Given the description of an element on the screen output the (x, y) to click on. 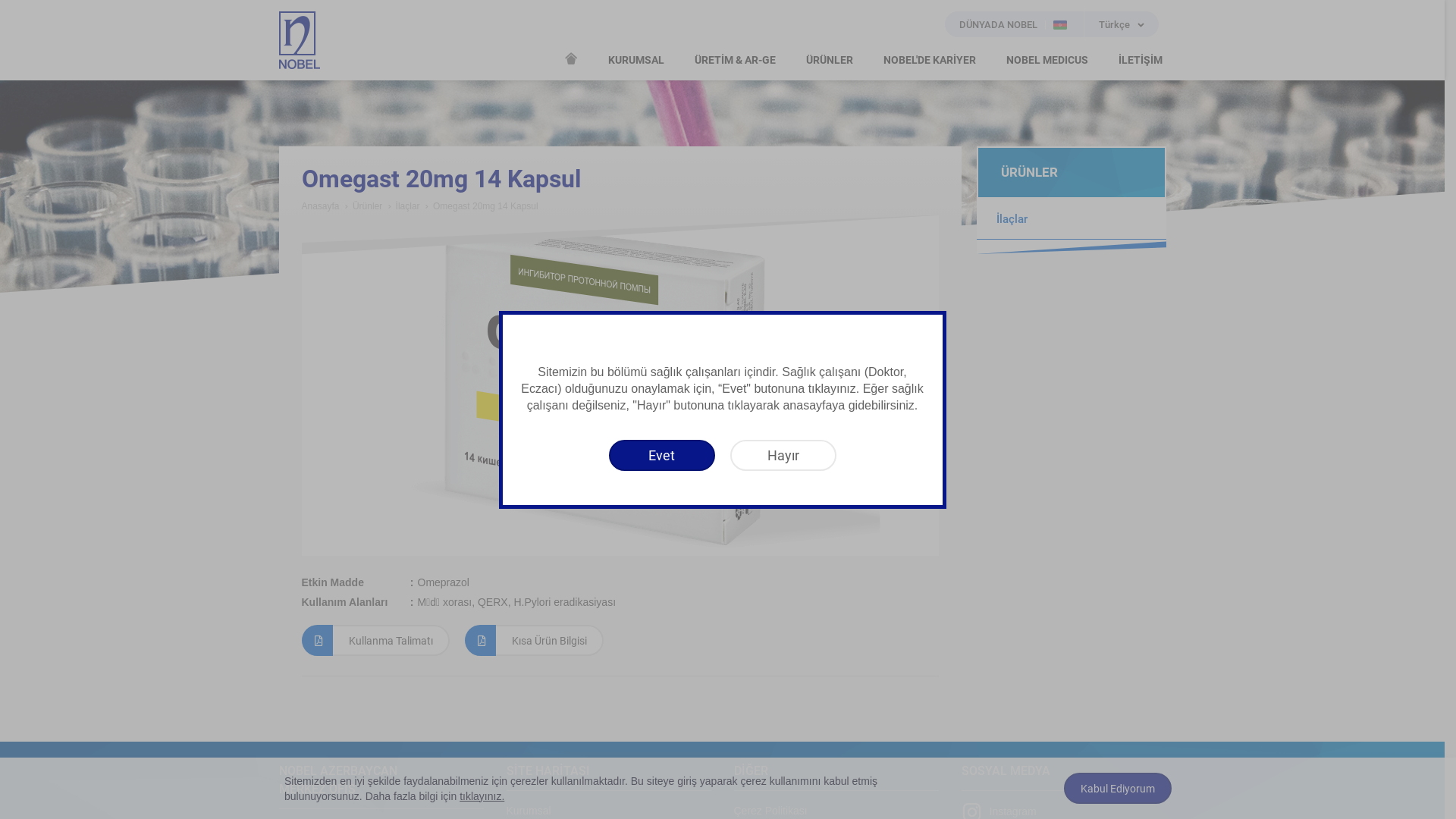
NOBEL Element type: text (299, 40)
Kabul Ediyorum Element type: text (1117, 787)
Anasayfa Element type: hover (570, 58)
NOBEL MEDICUS Element type: text (1046, 60)
Instagram Element type: text (998, 811)
Anasayfa Element type: text (320, 205)
Evet Element type: text (661, 454)
Kurumsal Element type: text (528, 810)
